Given the description of an element on the screen output the (x, y) to click on. 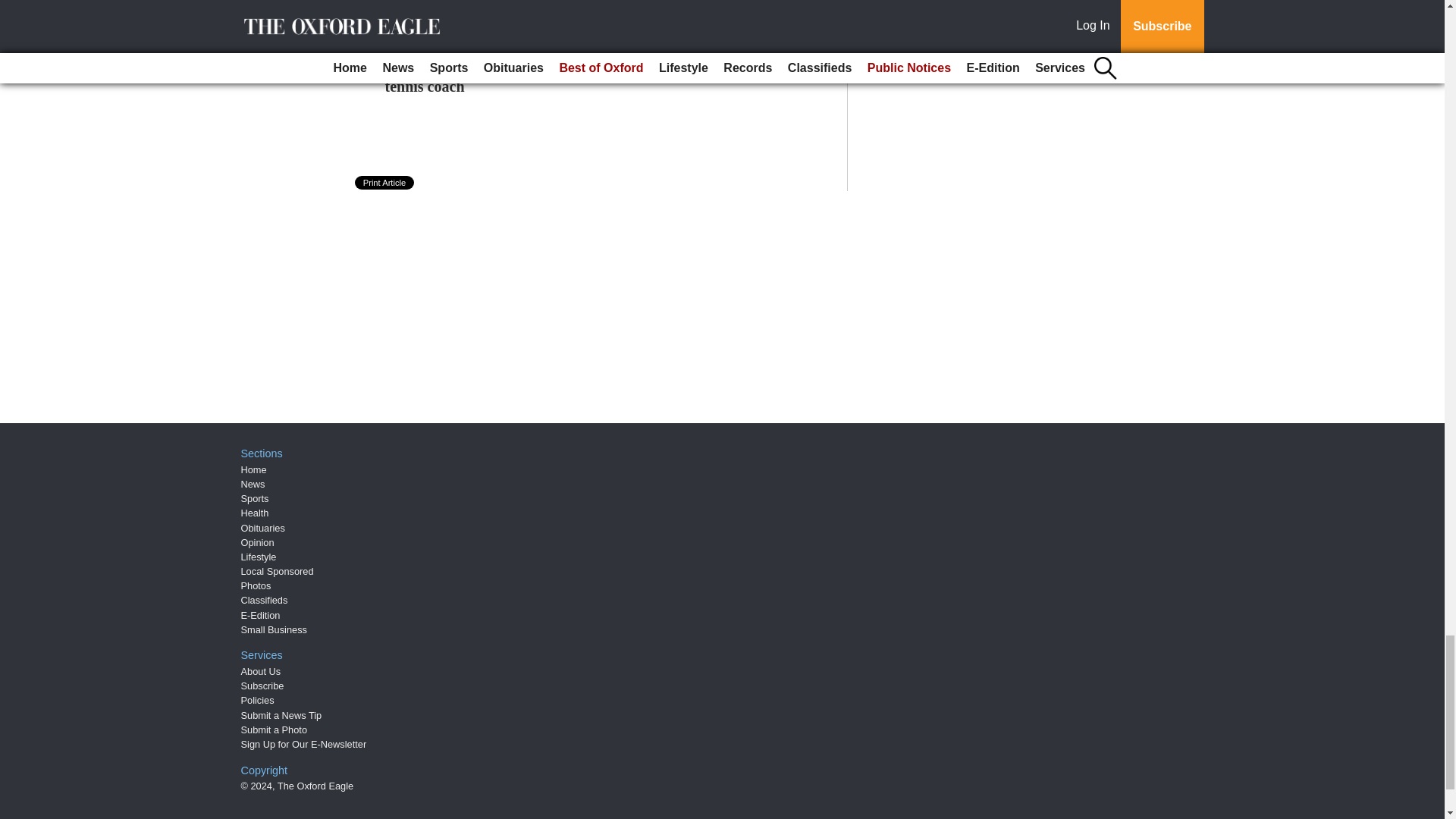
Print Article (384, 182)
Sports (255, 498)
Health (255, 512)
News (252, 483)
Home (253, 469)
